Given the description of an element on the screen output the (x, y) to click on. 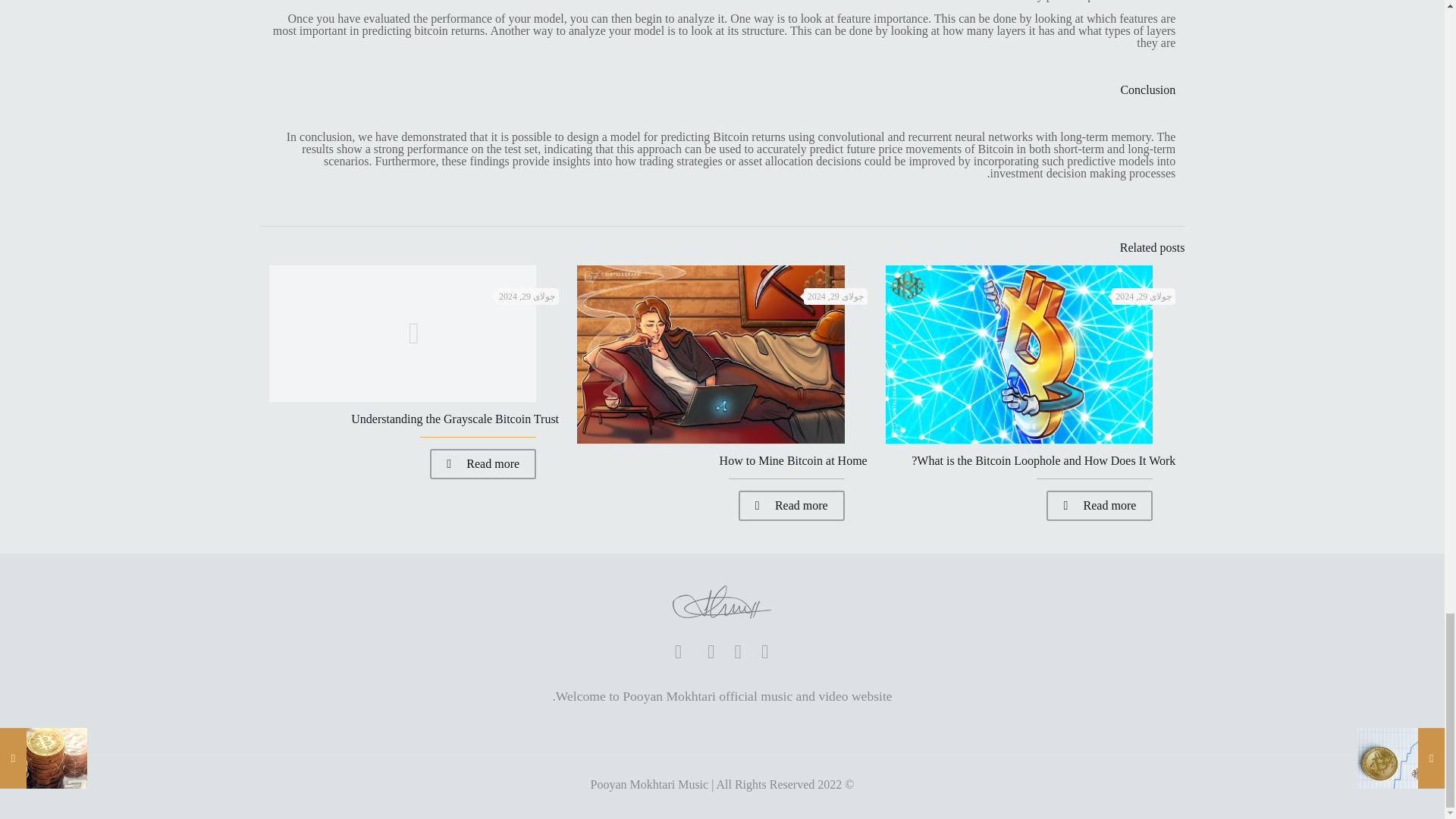
Understanding the Grayscale Bitcoin Trust (454, 418)
What is the Bitcoin Loophole and How Does It Work? (1042, 460)
Read more (791, 505)
Read more (1099, 505)
How to Mine Bitcoin at Home (793, 460)
Read more (482, 463)
